Given the description of an element on the screen output the (x, y) to click on. 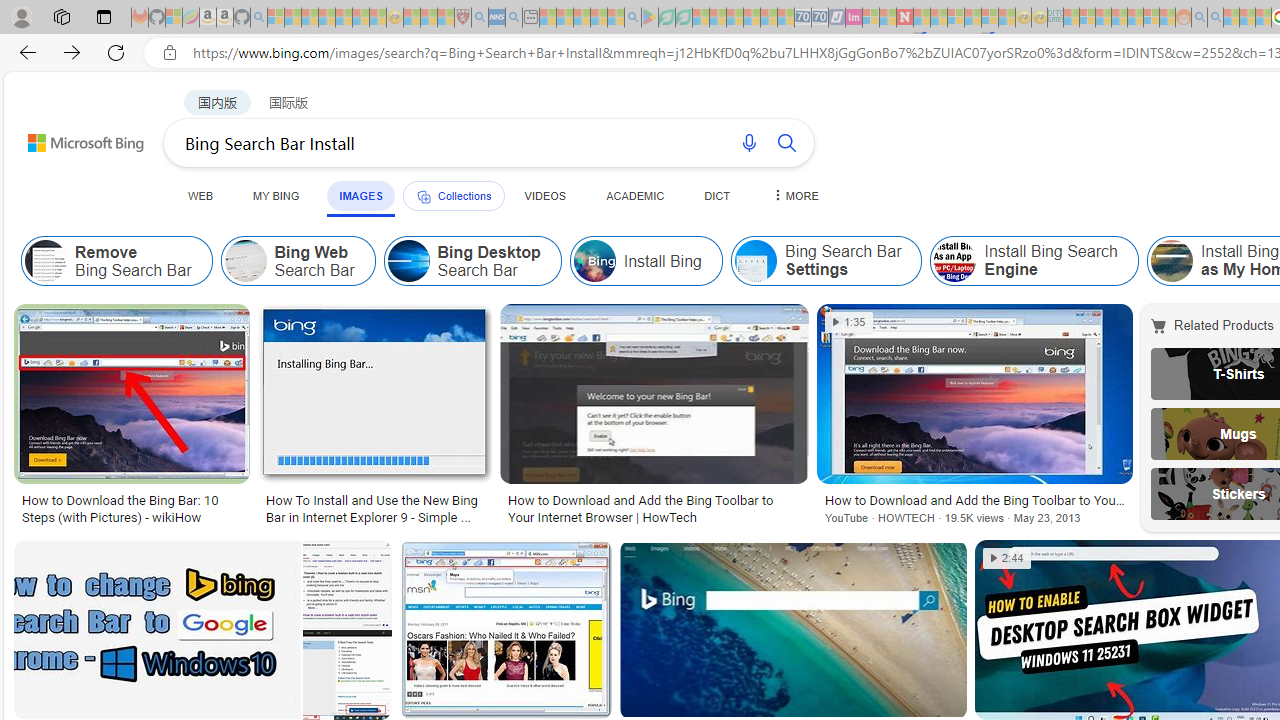
Class: b_pri_nav_svg (423, 196)
WEB (201, 195)
MY BING (276, 195)
